Given the description of an element on the screen output the (x, y) to click on. 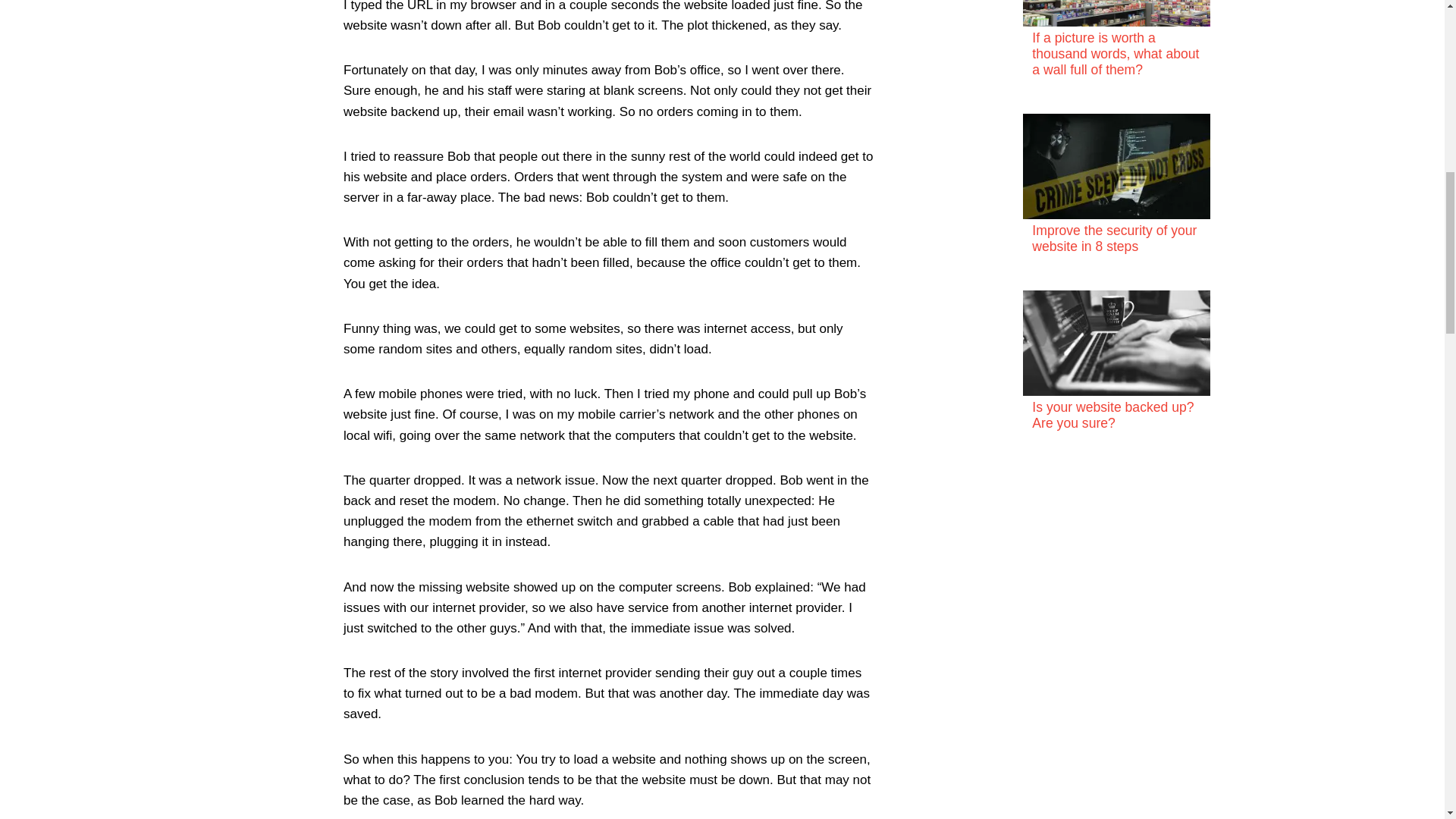
Improve the security of your website in 8 steps (1114, 237)
Is your website backed up? Are you sure? (1112, 414)
